Given the description of an element on the screen output the (x, y) to click on. 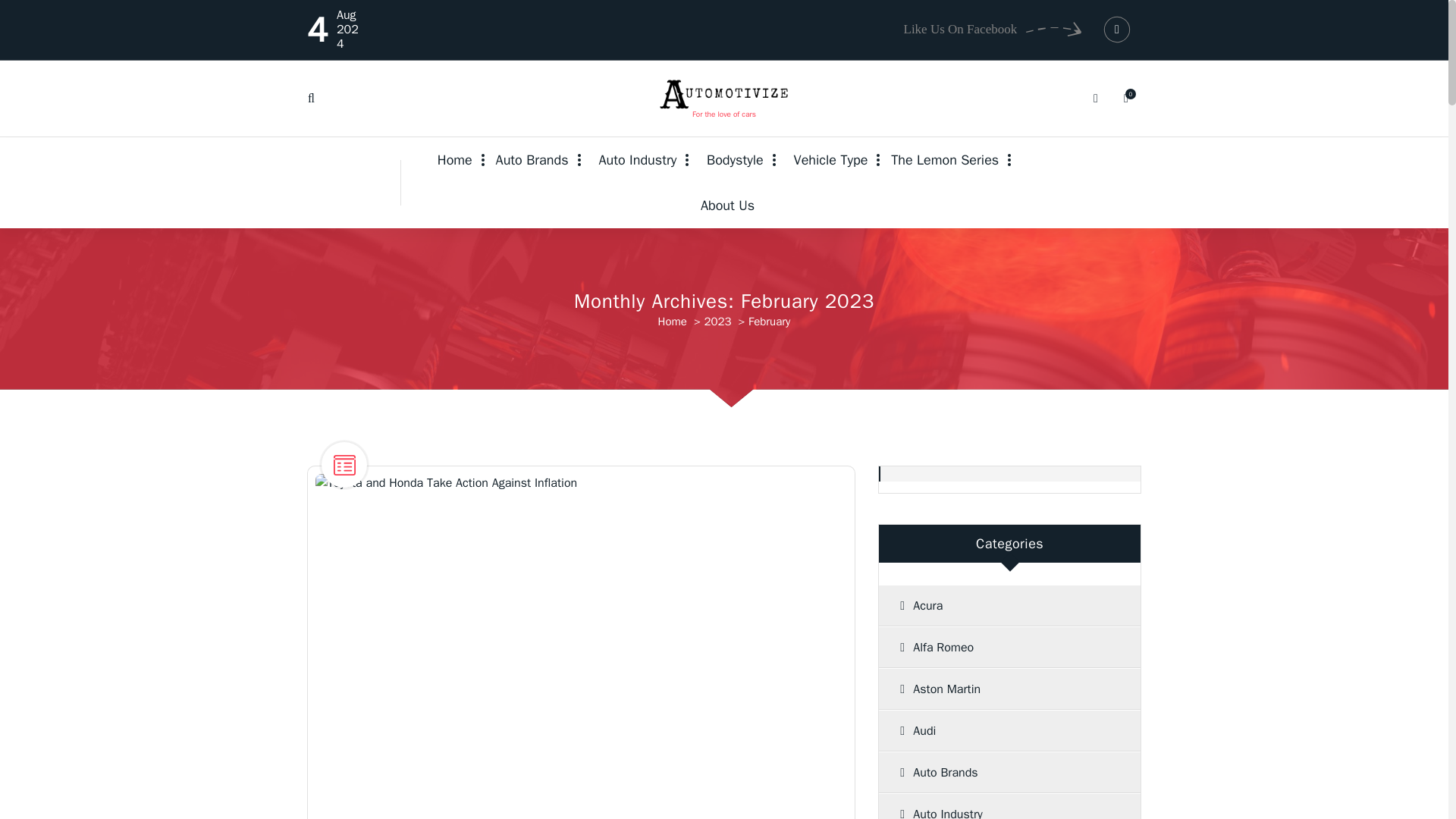
Home (461, 159)
Auto Industry (633, 159)
The Lemon Series (944, 159)
Auto Brands (531, 159)
Auto Brands (531, 159)
Bodystyle (731, 159)
Home (461, 159)
Bodystyle (731, 159)
0 (1125, 98)
Auto Industry (633, 159)
Vehicle Type (827, 159)
Vehicle Type (827, 159)
About Us (724, 205)
